Given the description of an element on the screen output the (x, y) to click on. 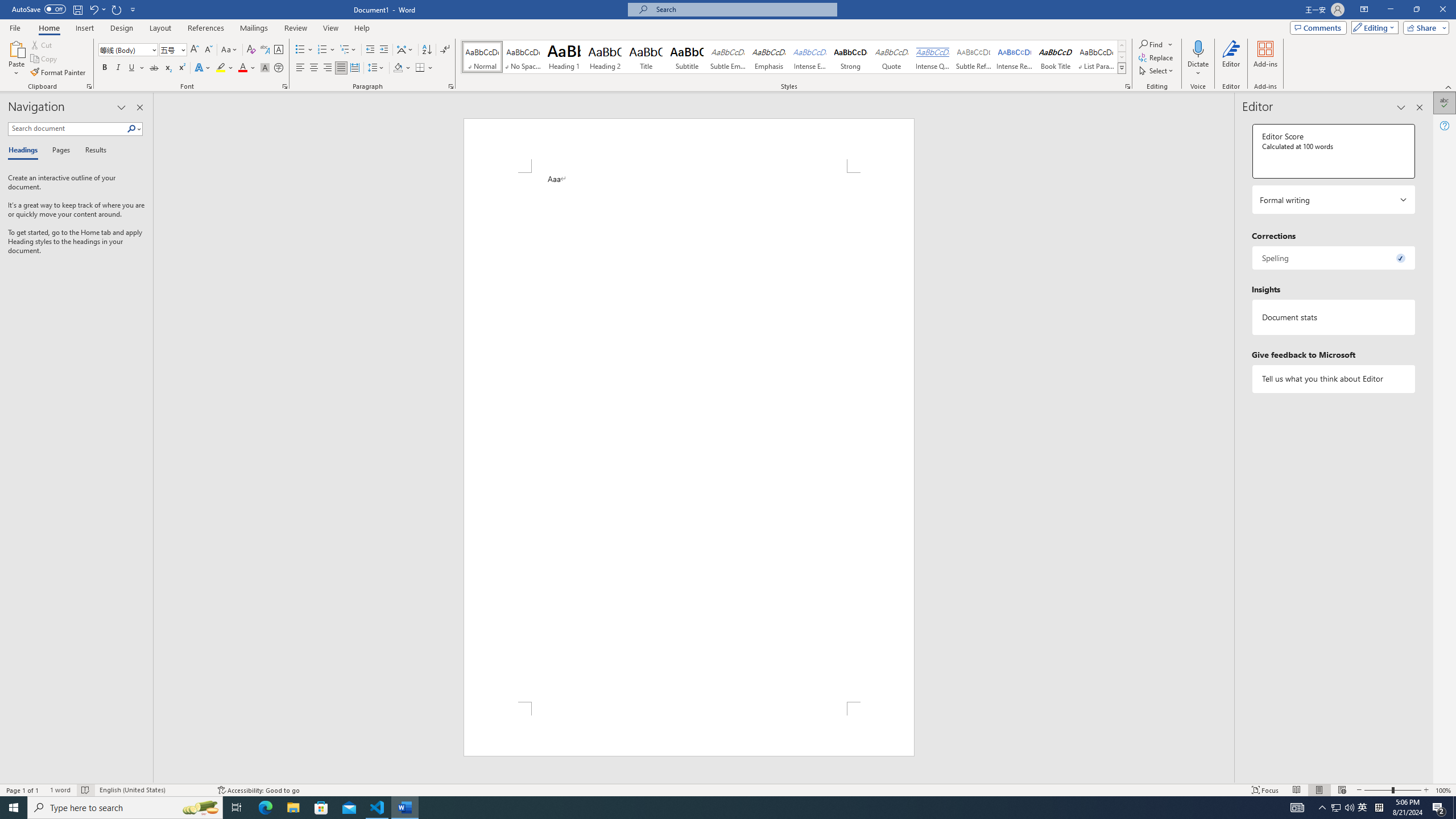
Text Highlight Color Yellow (220, 67)
Search document (66, 128)
Bold (104, 67)
Subscript (167, 67)
Character Shading (264, 67)
Title (646, 56)
Headings (25, 150)
Text Effects and Typography (202, 67)
Class: NetUIScrollBar (1229, 437)
Paragraph... (450, 85)
Replace... (1156, 56)
